Given the description of an element on the screen output the (x, y) to click on. 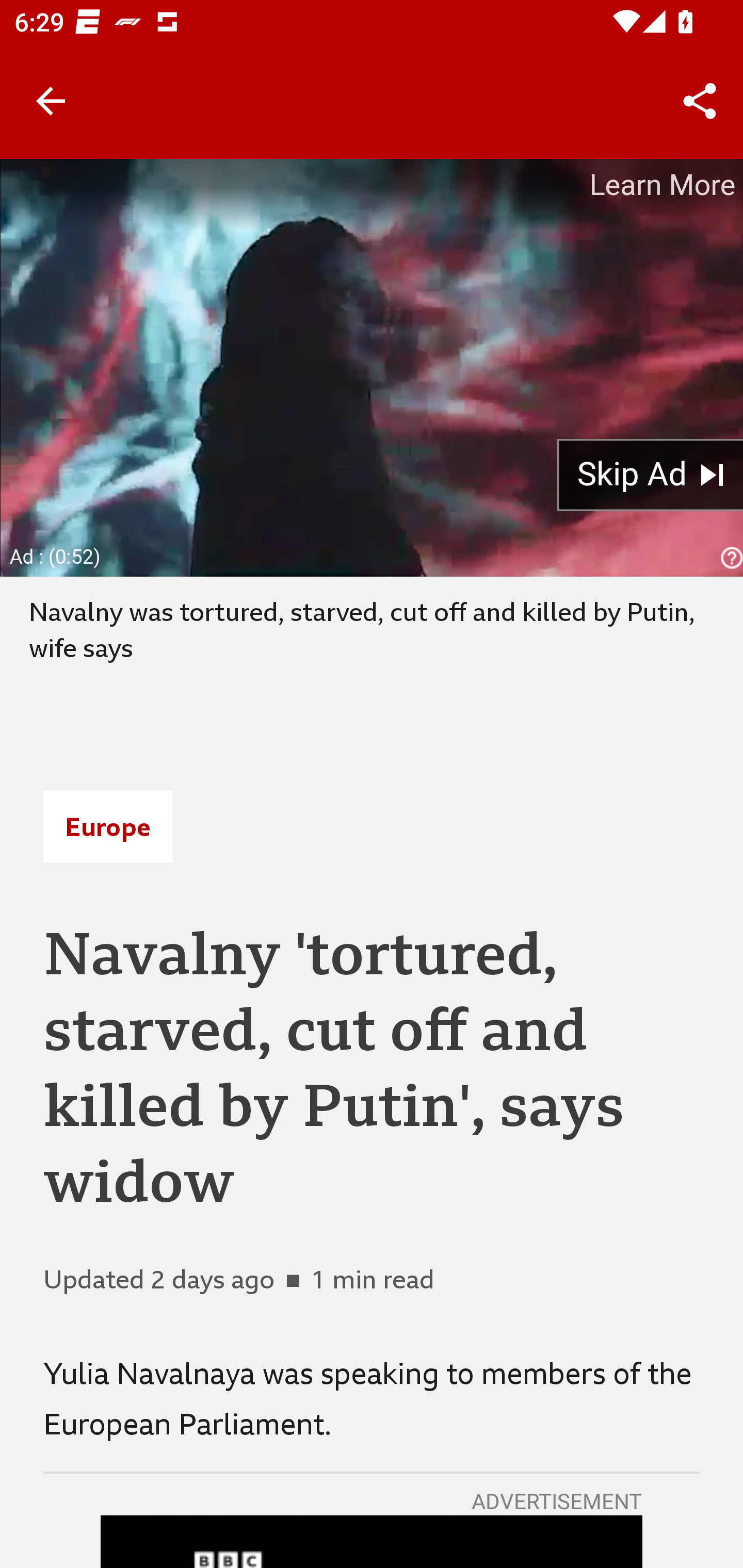
Back (50, 101)
Share (699, 101)
Learn More (660, 184)
enter fullscreen (703, 537)
Ad : (0:53) (55, 556)
help_outline_white_24dp_with_3px_trbl_padding (729, 557)
Europe (108, 827)
